Given the description of an element on the screen output the (x, y) to click on. 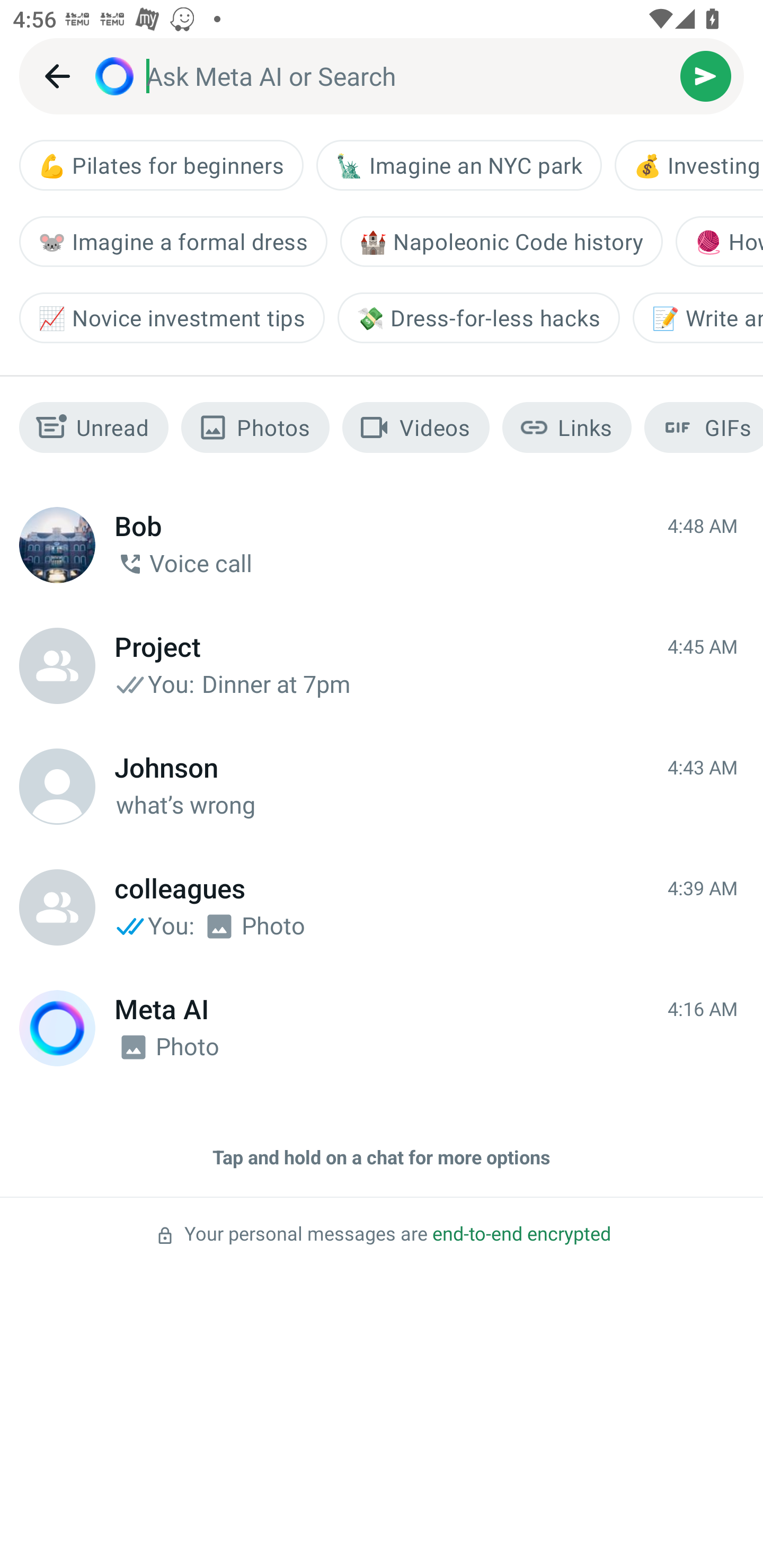
Back (57, 75)
Ask Meta AI or Search (413, 75)
Send (705, 75)
💪 Pilates for beginners (161, 165)
🗽 Imagine an NYC park (459, 165)
💰 Investing goals 101 (688, 165)
🐭 Imagine a formal dress (173, 241)
🏰 Napoleonic Code history (501, 241)
📈 Novice investment tips (172, 317)
💸 Dress-for-less hacks (478, 317)
📝 Write an ode to the '90s (697, 317)
Unread (93, 426)
Photos (255, 426)
Videos (415, 426)
Links (566, 426)
GIFs (703, 426)
Bob Bob 4:48 AM 4:48 AM Voice call (381, 544)
Bob (57, 544)
Project (57, 665)
Johnson Johnson 4:43 AM 4:43 AM what’s wrong (381, 785)
Johnson (57, 785)
colleagues colleagues 4:39 AM 4:39 AM You:  Photo (381, 906)
colleagues (57, 906)
Meta AI Meta AI 4:16 AM 4:16 AM Photo (381, 1027)
Meta AI (57, 1027)
end-to-end encrypted (521, 1233)
